Given the description of an element on the screen output the (x, y) to click on. 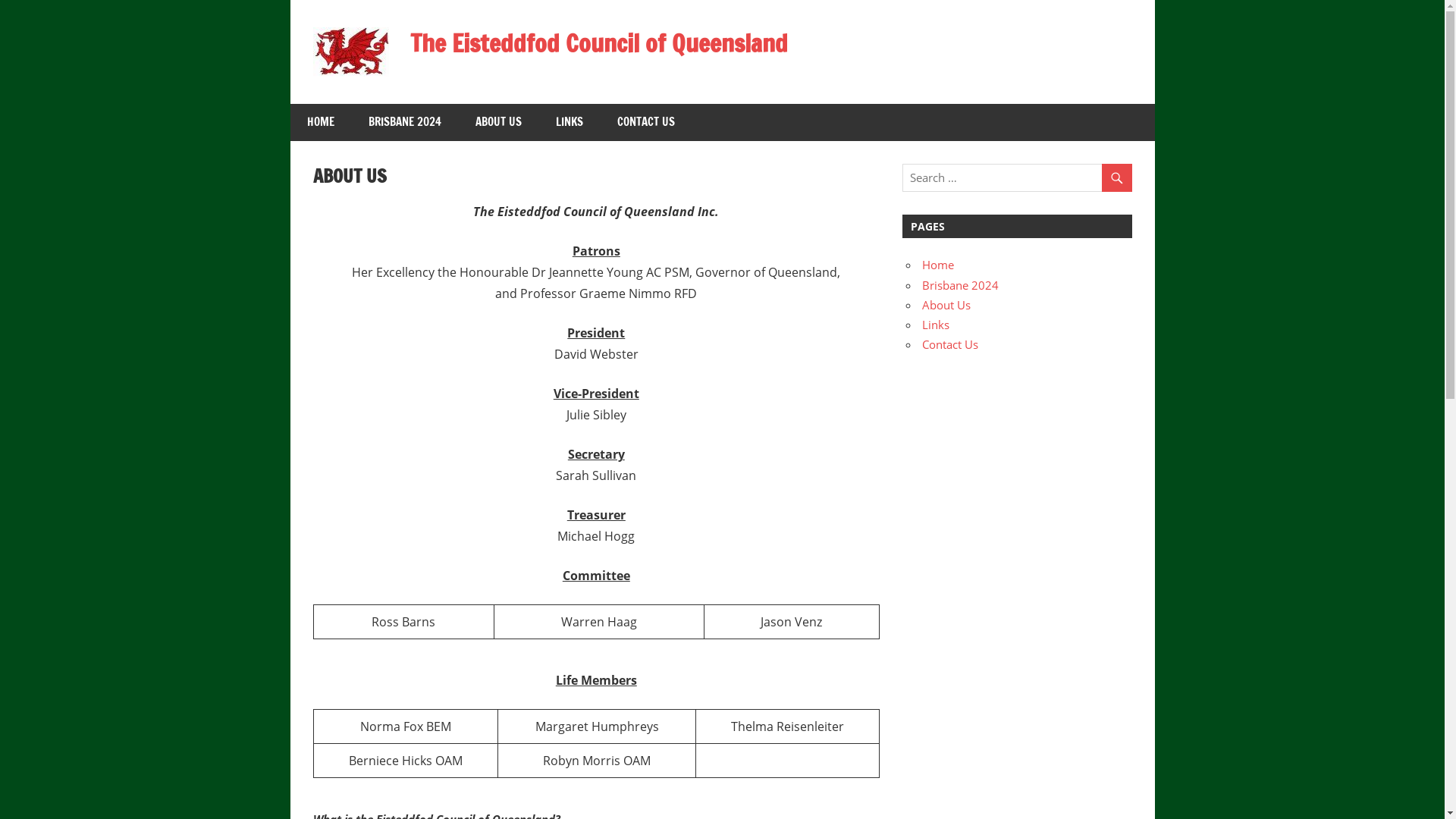
Links Element type: text (935, 324)
CONTACT US Element type: text (646, 122)
BRISBANE 2024 Element type: text (404, 122)
ABOUT US Element type: text (498, 122)
About Us Element type: text (946, 304)
Search for: Element type: hover (1016, 177)
HOME Element type: text (320, 122)
Contact Us Element type: text (950, 343)
LINKS Element type: text (568, 122)
The Eisteddfod Council of Queensland Element type: text (598, 42)
Home Element type: text (937, 264)
Brisbane 2024 Element type: text (960, 284)
